Given the description of an element on the screen output the (x, y) to click on. 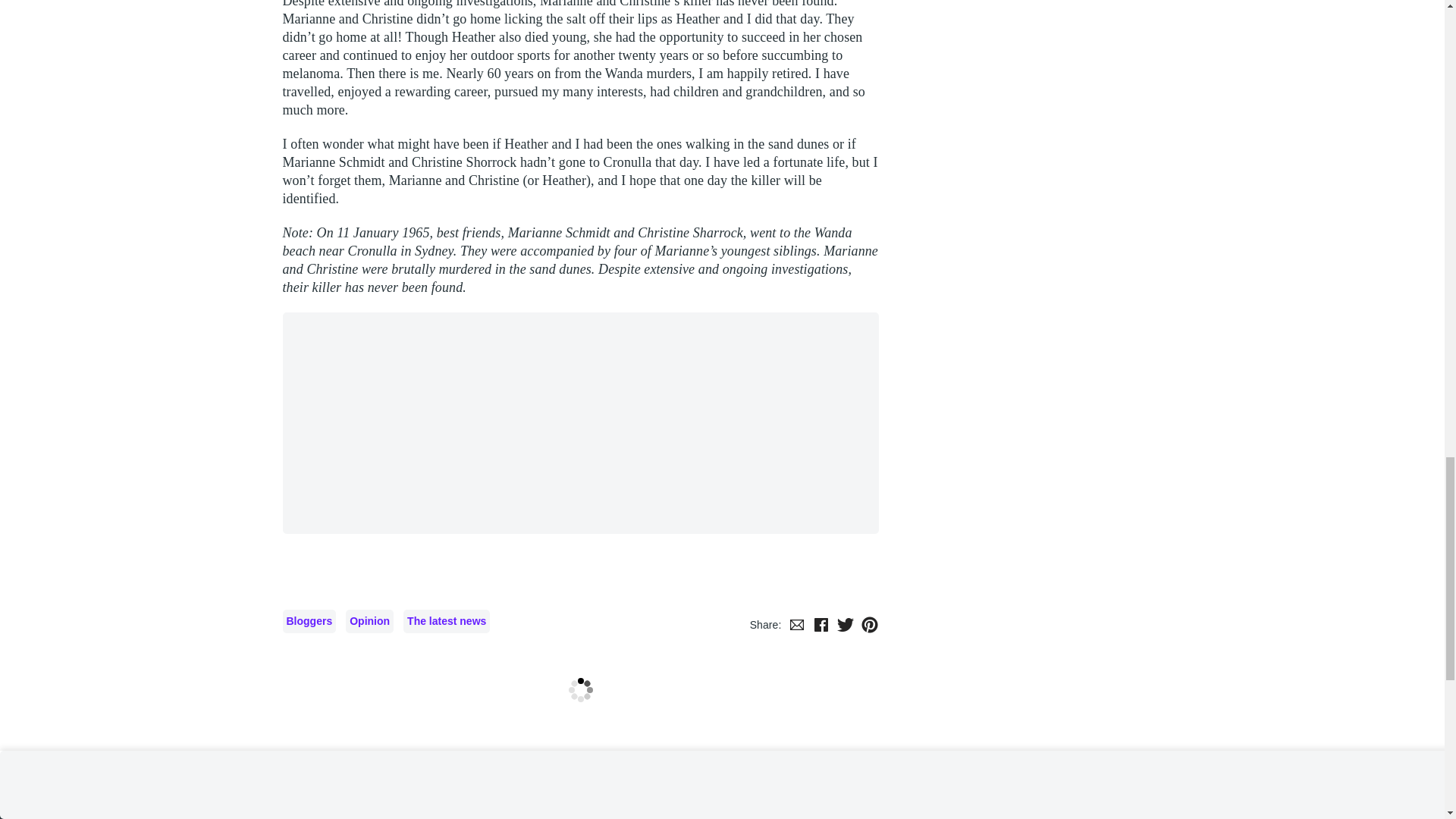
Share on Facebook (819, 624)
Share on Twitter (844, 624)
Share via email (796, 624)
The latest news (446, 621)
Share on Pinterest (868, 624)
Bloggers (309, 621)
Opinion (369, 621)
